Given the description of an element on the screen output the (x, y) to click on. 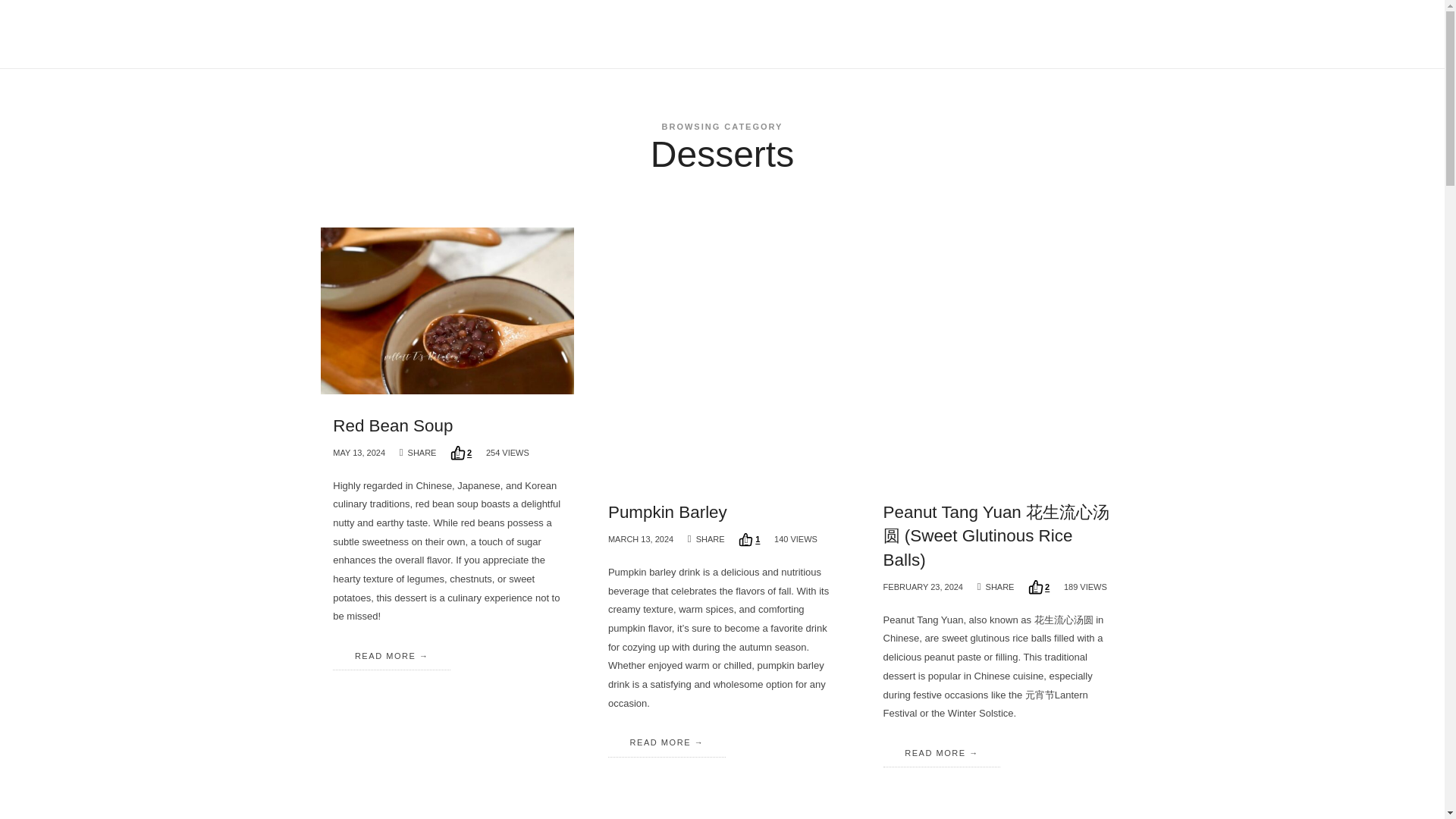
MARCH 13, 2024 (640, 538)
FEBRUARY 23, 2024 (922, 586)
Recommend this (1038, 586)
Recommend this (749, 539)
READ MORE (391, 655)
1 (749, 539)
Pumpkin Barley (667, 511)
MAY 13, 2024 (359, 452)
Recommend this (460, 452)
2 (460, 452)
Villett T.'s Kitchen (371, 33)
Red Bean Soup (392, 424)
READ MORE (666, 742)
